Given the description of an element on the screen output the (x, y) to click on. 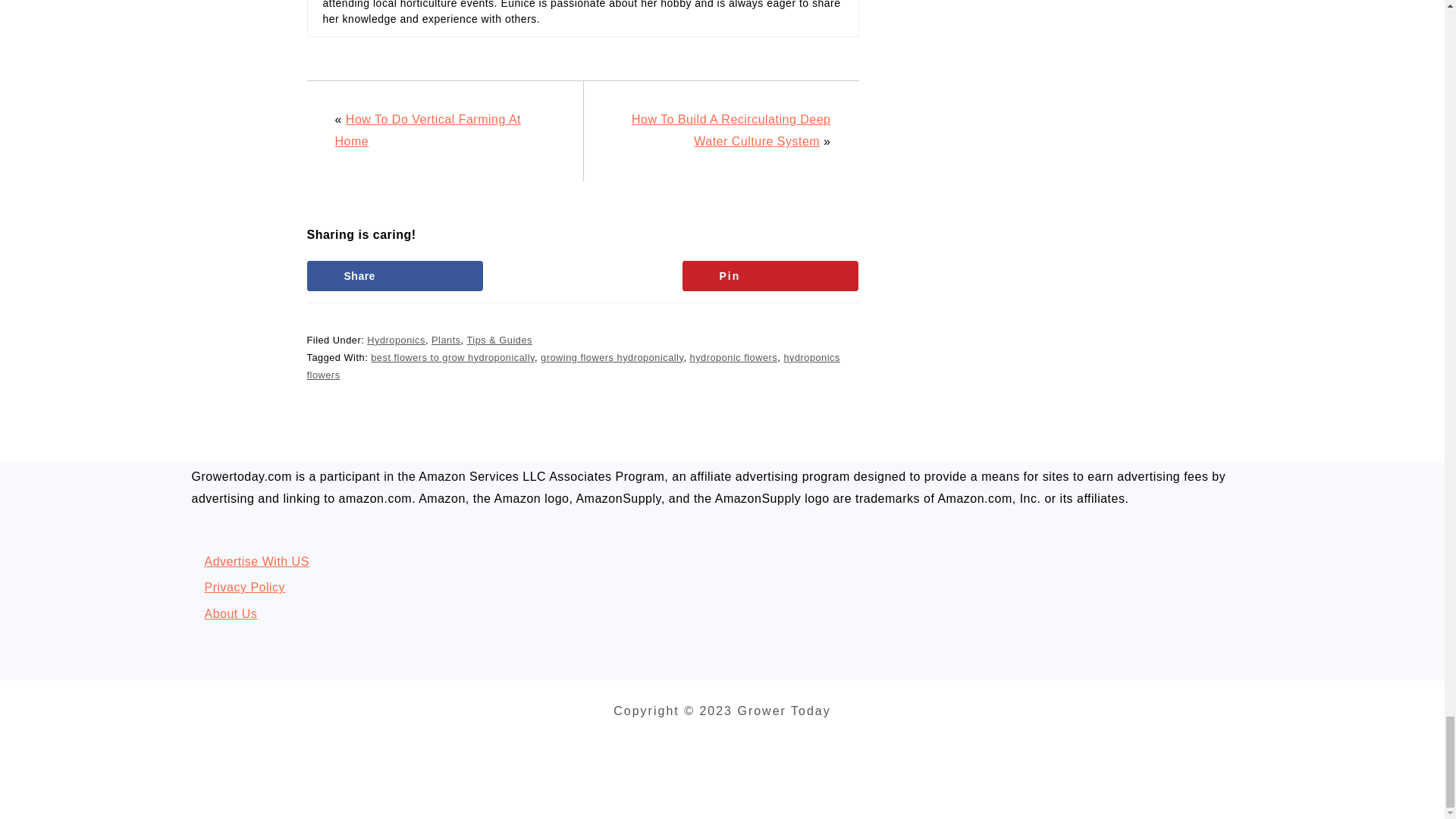
Share on Facebook (394, 276)
